Given the description of an element on the screen output the (x, y) to click on. 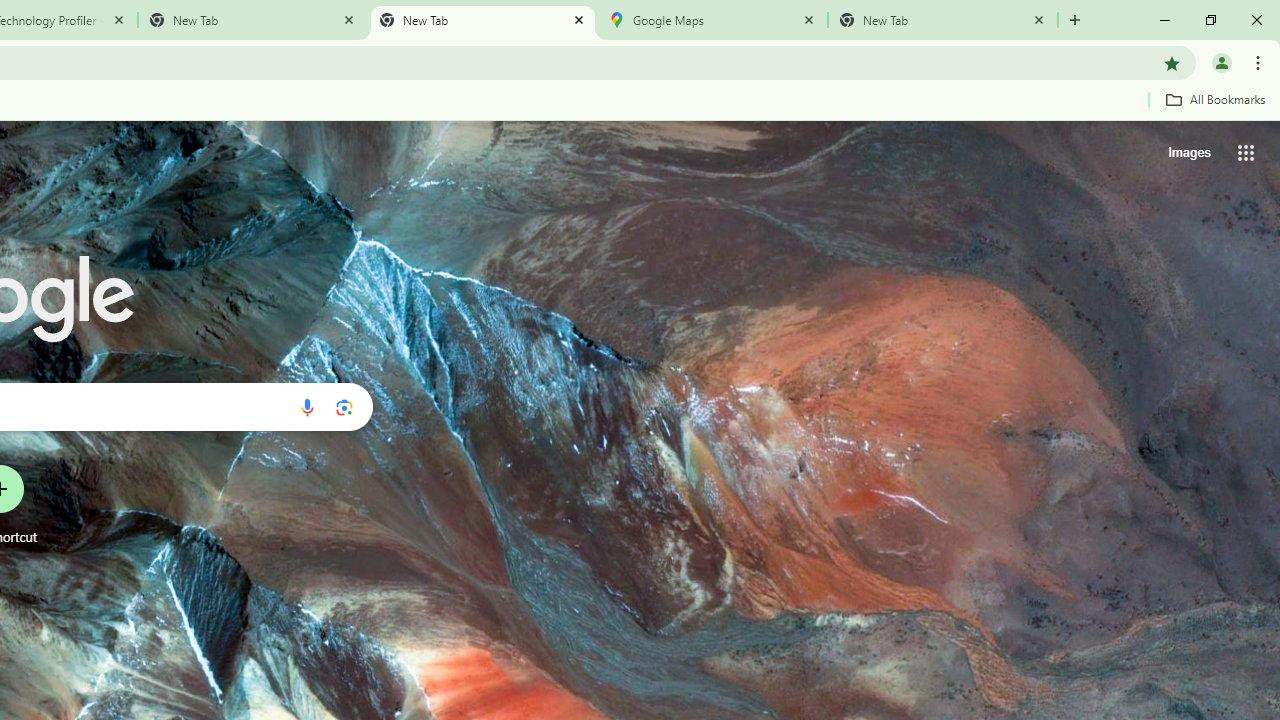
Google Maps (712, 20)
